Given the description of an element on the screen output the (x, y) to click on. 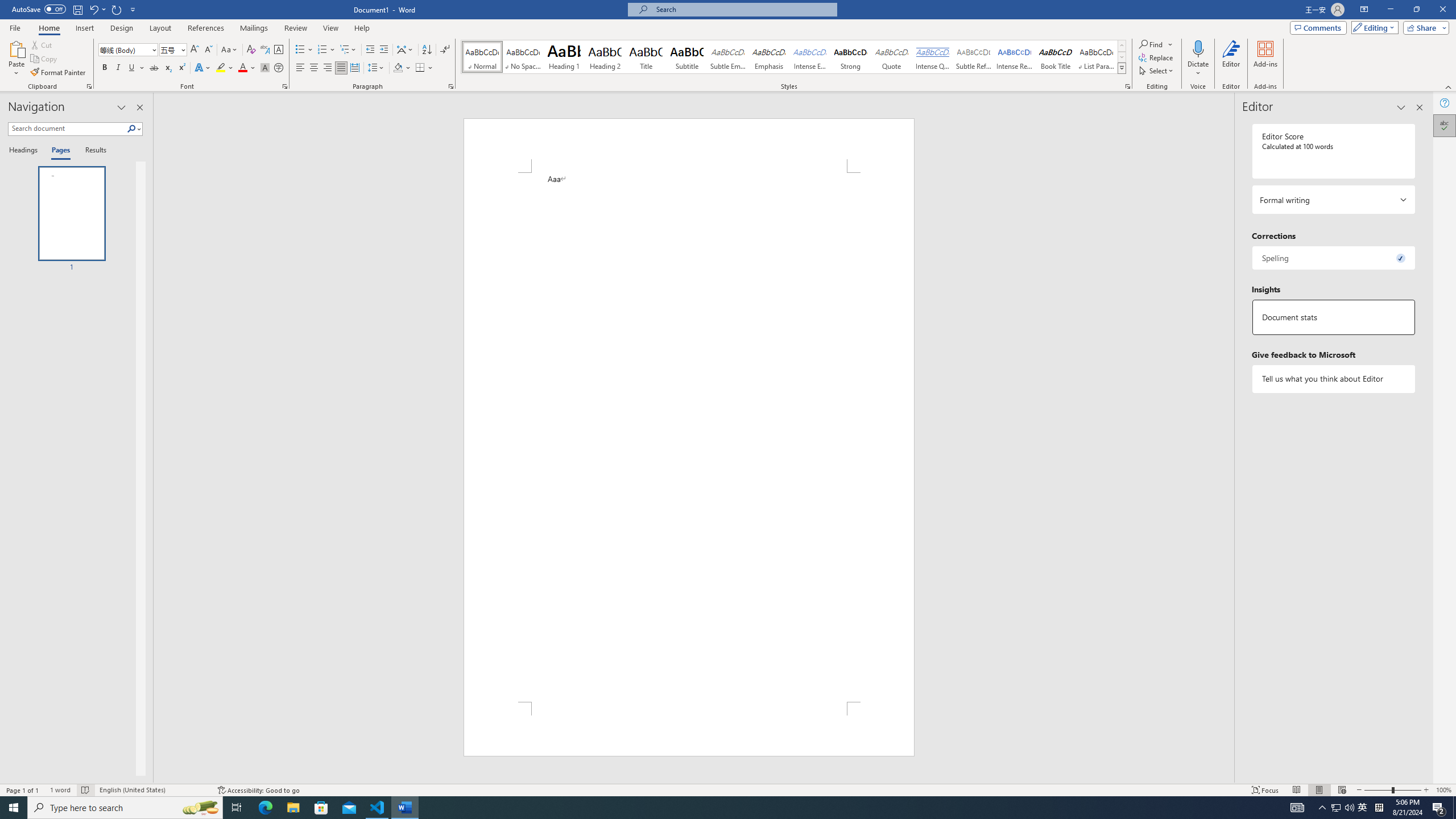
Document statistics (1333, 316)
Intense Emphasis (809, 56)
